Given the description of an element on the screen output the (x, y) to click on. 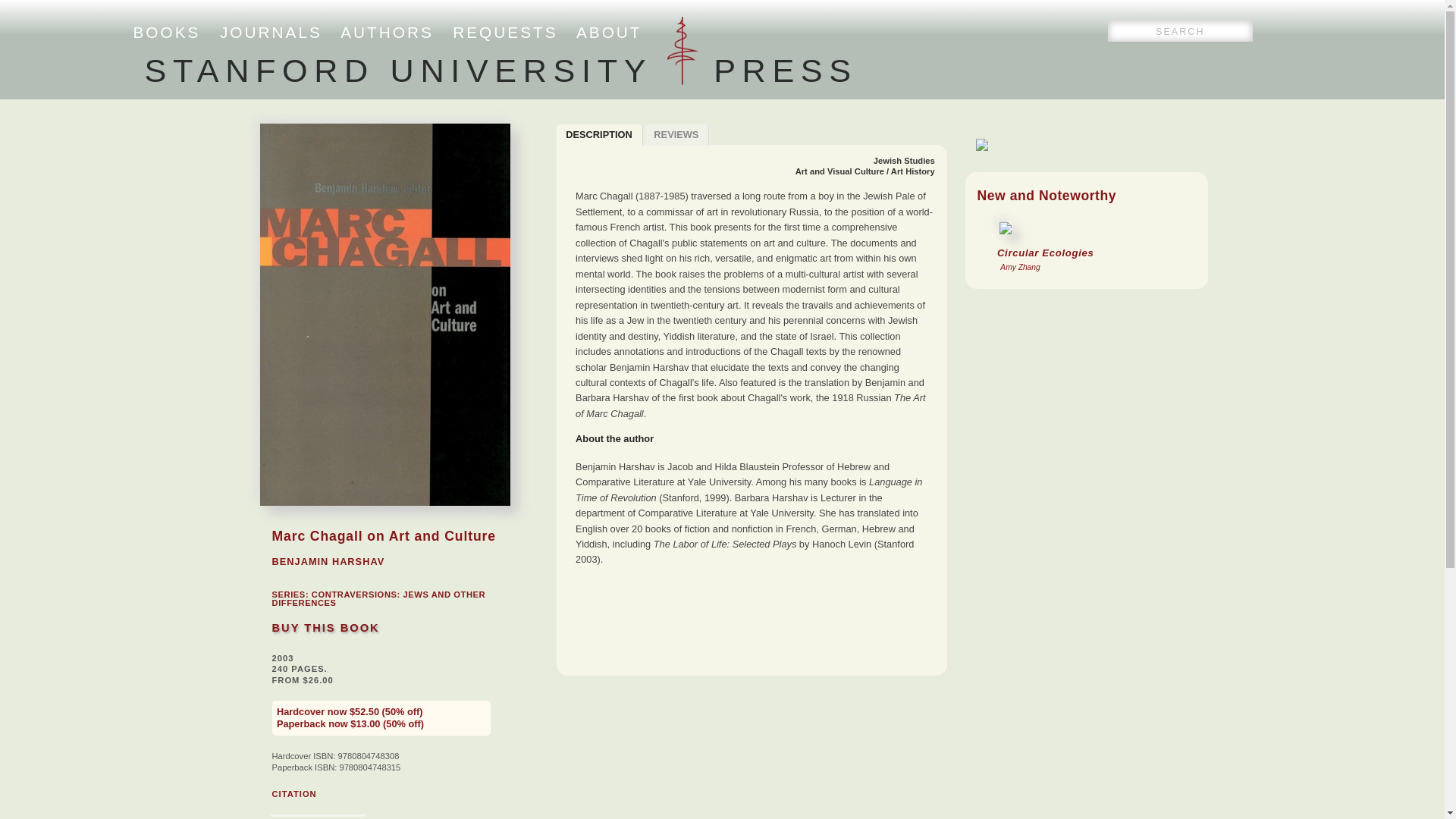
REQUESTS (504, 31)
CITATION (292, 793)
ABOUT (609, 31)
STANFORD UNIVERSITY PRESS (500, 70)
BUY THIS BOOK (324, 627)
JOURNALS (270, 31)
DESCRIPTION (599, 134)
AUTHORS (386, 31)
REVIEWS (677, 134)
Jewish Studies (903, 160)
